Given the description of an element on the screen output the (x, y) to click on. 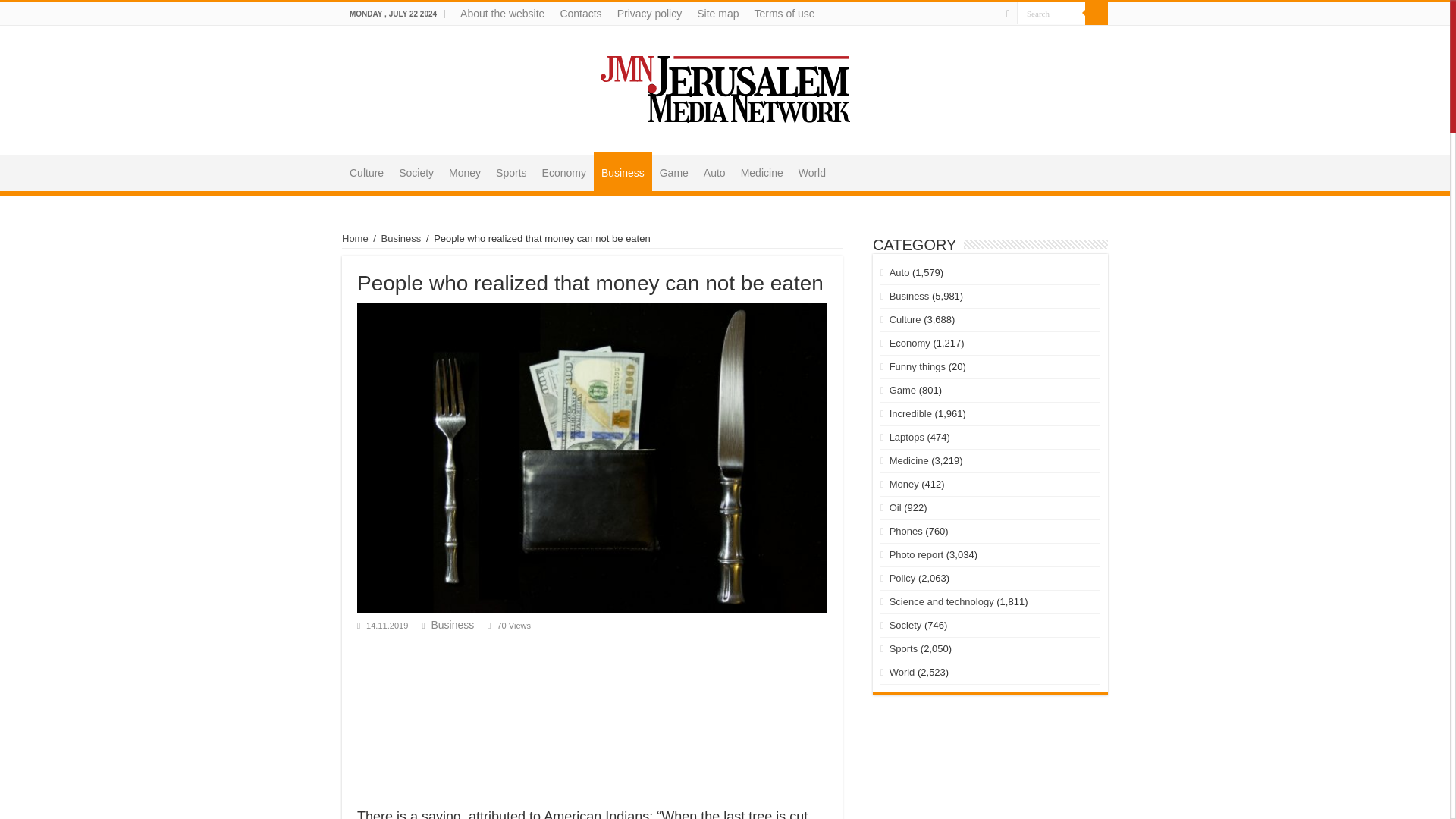
Home (355, 238)
Game (673, 171)
About the website (501, 13)
Economy (564, 171)
Medicine (761, 171)
Search (1050, 13)
Money (464, 171)
Contacts (579, 13)
Site map (716, 13)
Sports (510, 171)
Search (1096, 13)
Search (1050, 13)
Society (416, 171)
Business (401, 238)
Terms of use (783, 13)
